Given the description of an element on the screen output the (x, y) to click on. 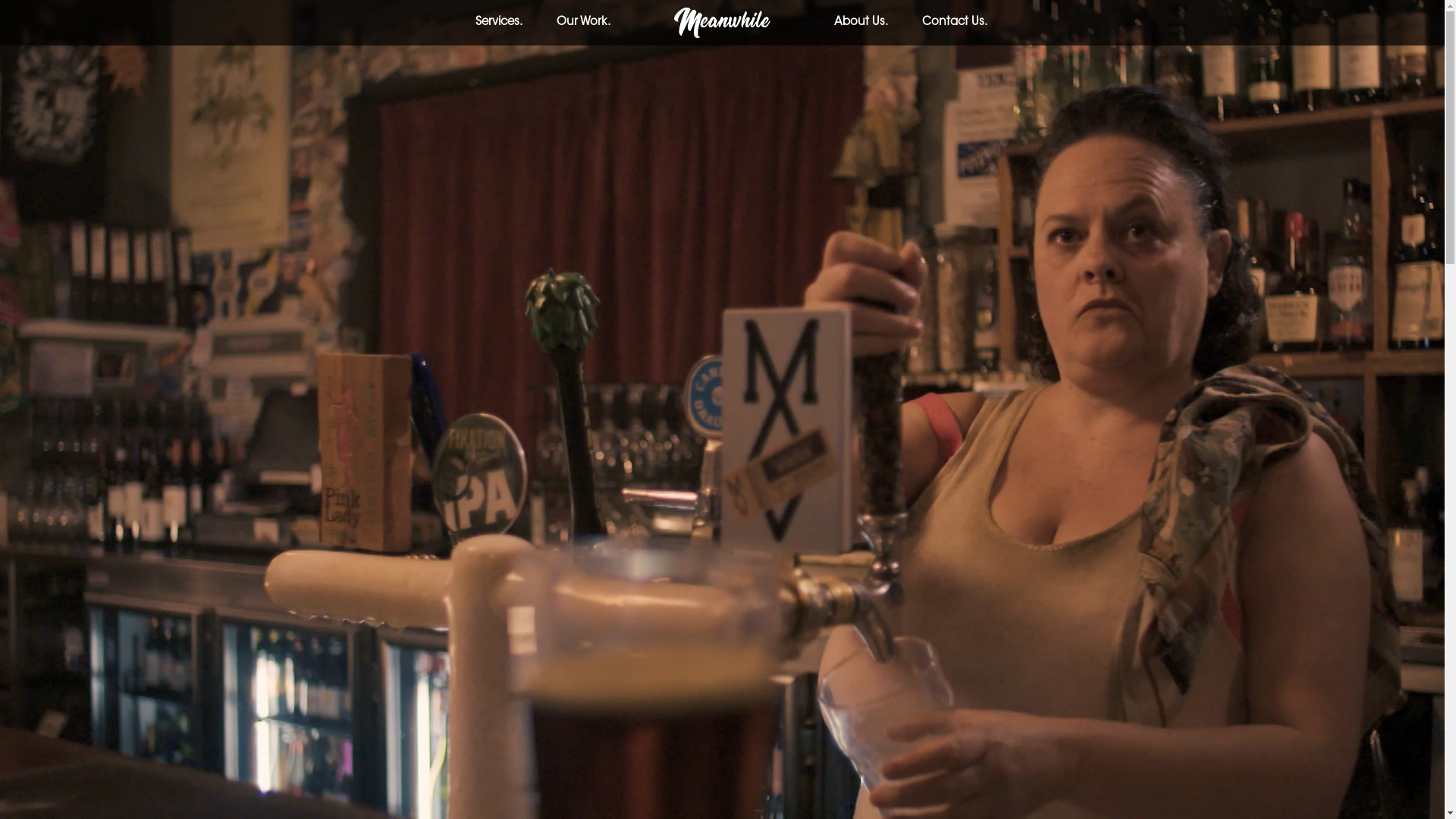
Our Work. Element type: text (583, 22)
Services. Element type: text (498, 22)
Contact Us. Element type: text (954, 22)
About Us. Element type: text (861, 22)
